Given the description of an element on the screen output the (x, y) to click on. 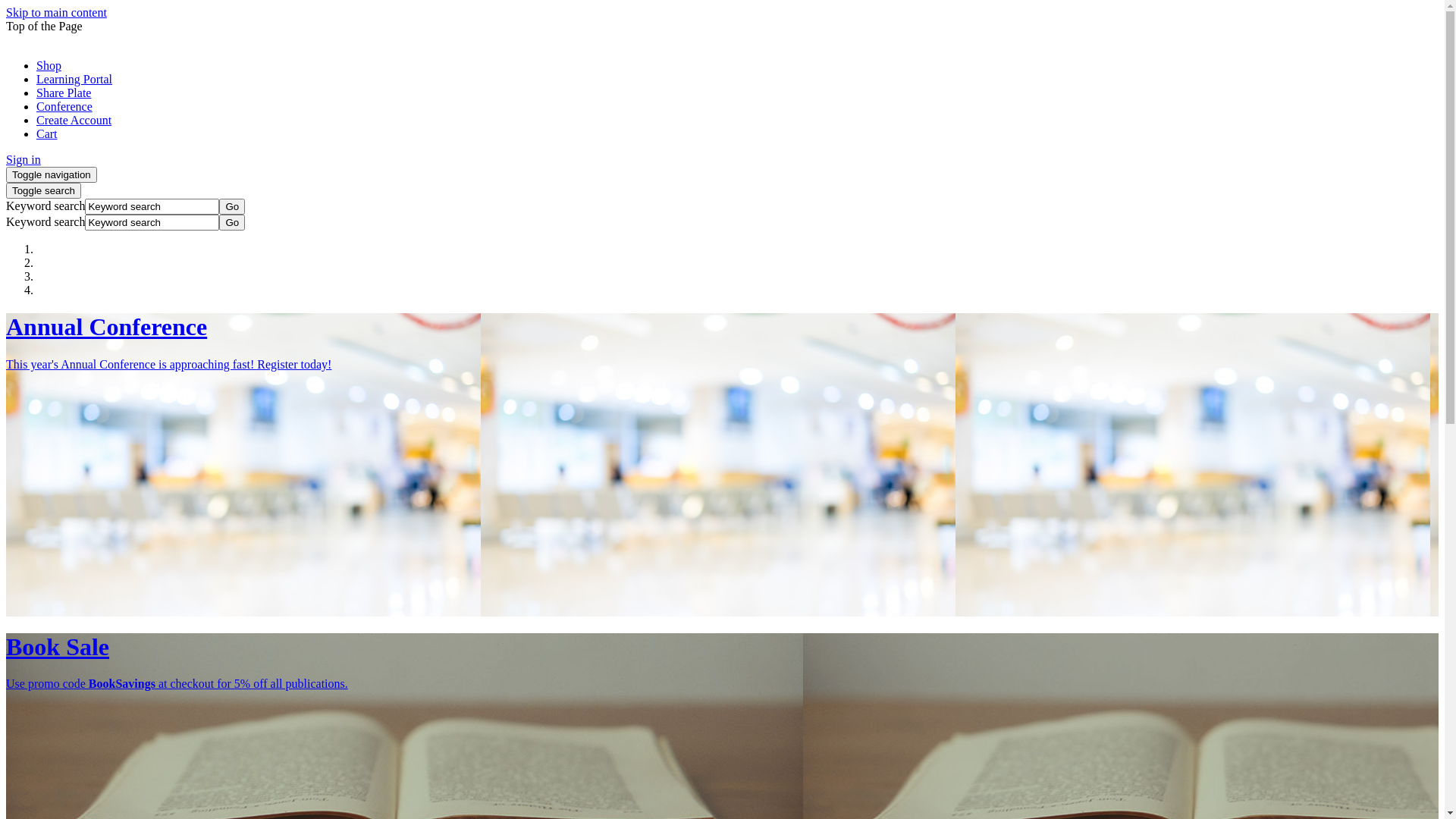
Cart Element type: text (46, 133)
Top of the Page Element type: text (44, 25)
Skip to main content Element type: text (56, 12)
Create Account Element type: text (73, 119)
Sign in Element type: text (23, 159)
Toggle navigation Element type: text (51, 174)
Go Element type: text (231, 206)
Share Plate Element type: text (63, 92)
Conference Element type: text (64, 106)
Toggle search Element type: text (43, 190)
Go Element type: text (231, 222)
Shop Element type: text (48, 65)
Learning Portal Element type: text (74, 78)
